Given the description of an element on the screen output the (x, y) to click on. 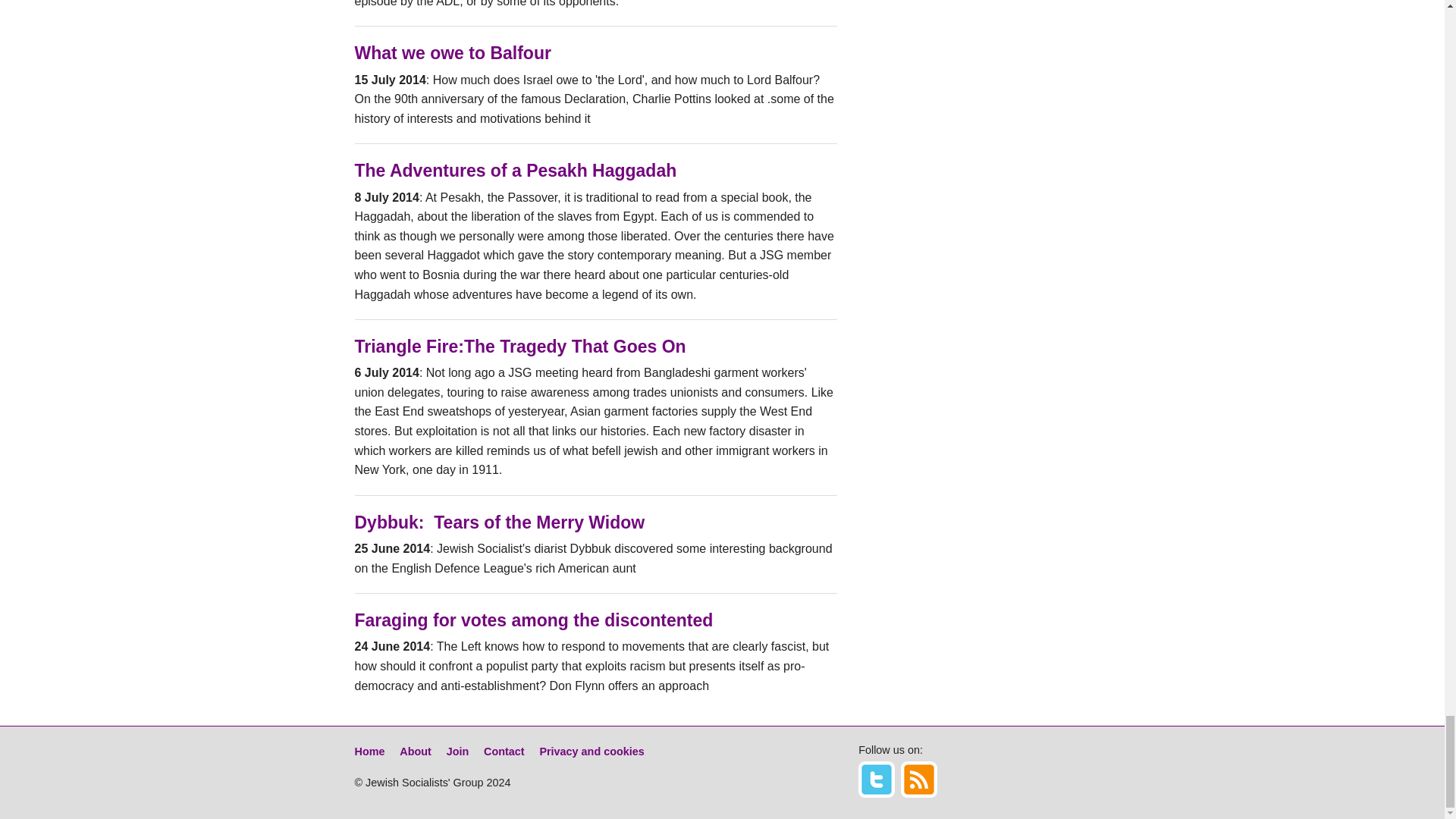
RSS (919, 779)
Twitter (877, 779)
